Given the description of an element on the screen output the (x, y) to click on. 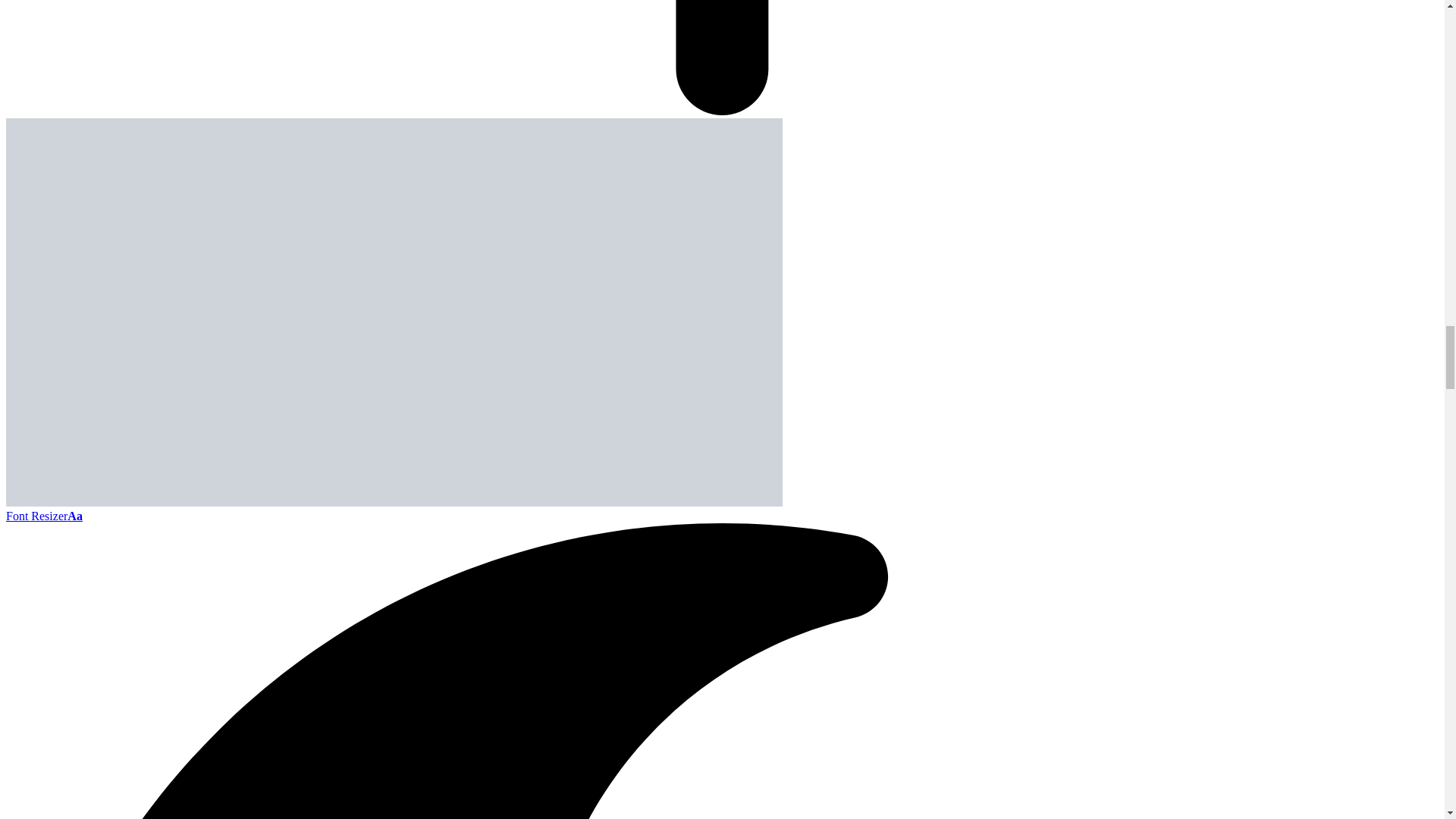
Font ResizerAa (43, 515)
SmartData Collective (394, 502)
